Given the description of an element on the screen output the (x, y) to click on. 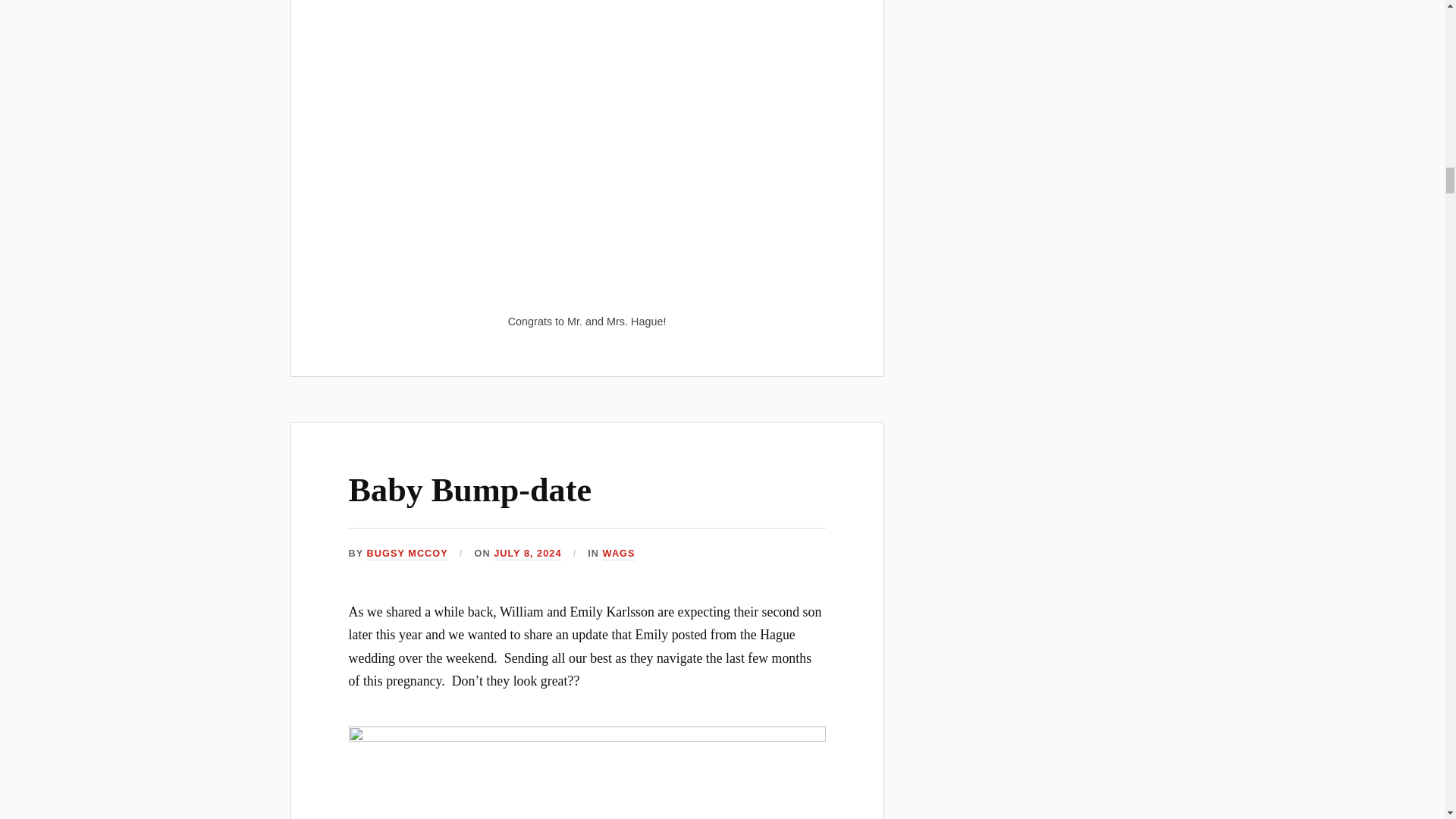
WAGS (618, 553)
Posts by Bugsy McCoy (407, 553)
JULY 8, 2024 (526, 553)
BUGSY MCCOY (407, 553)
Baby Bump-date (470, 489)
